Given the description of an element on the screen output the (x, y) to click on. 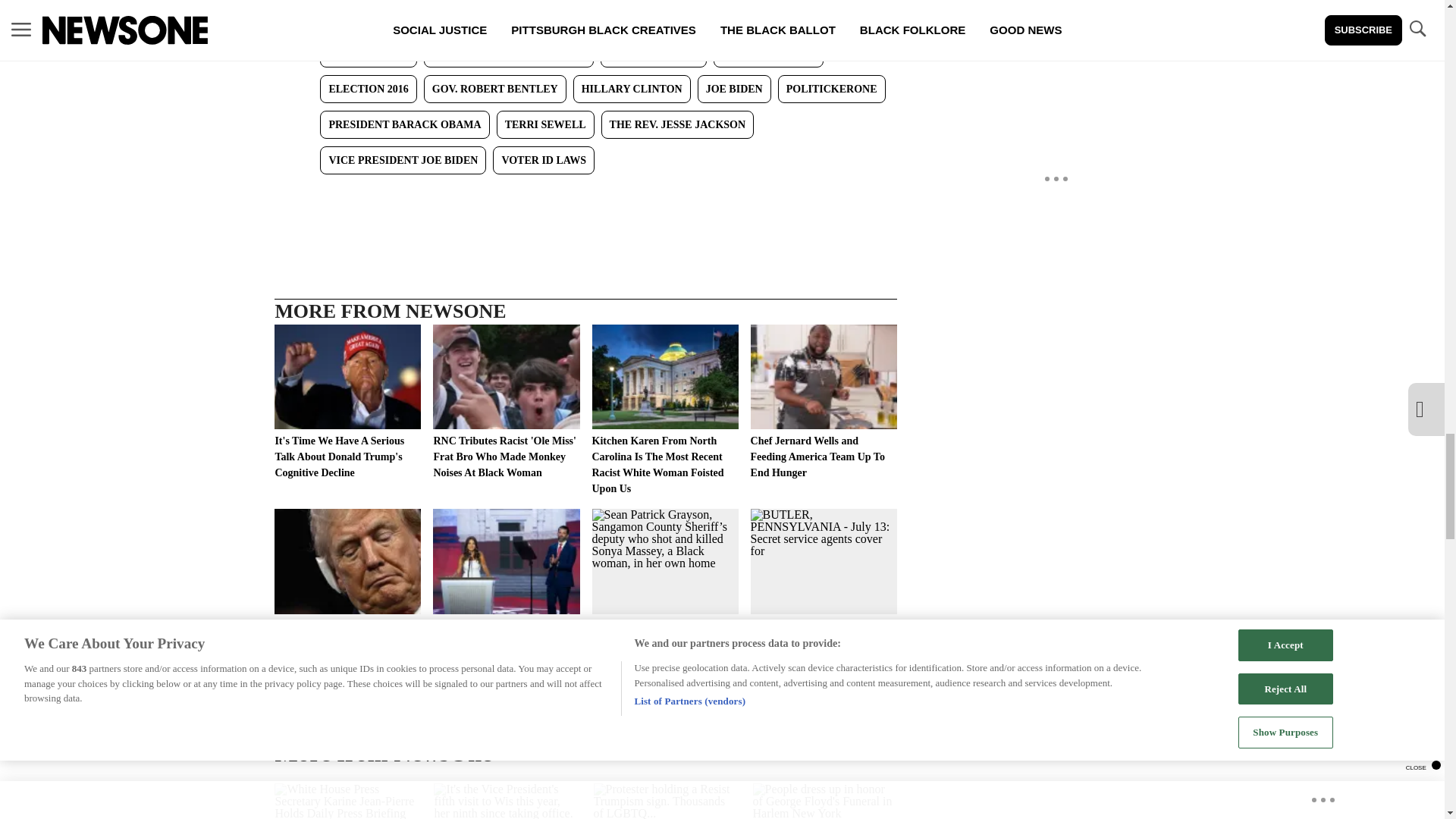
BARACK OBAMA (652, 53)
BERNIE SANDERS (768, 53)
ALA. GOV. ROBERT BENTLEY (508, 53)
Vuukle Sharebar Widget (585, 198)
2016 ELECTION (368, 53)
